Given the description of an element on the screen output the (x, y) to click on. 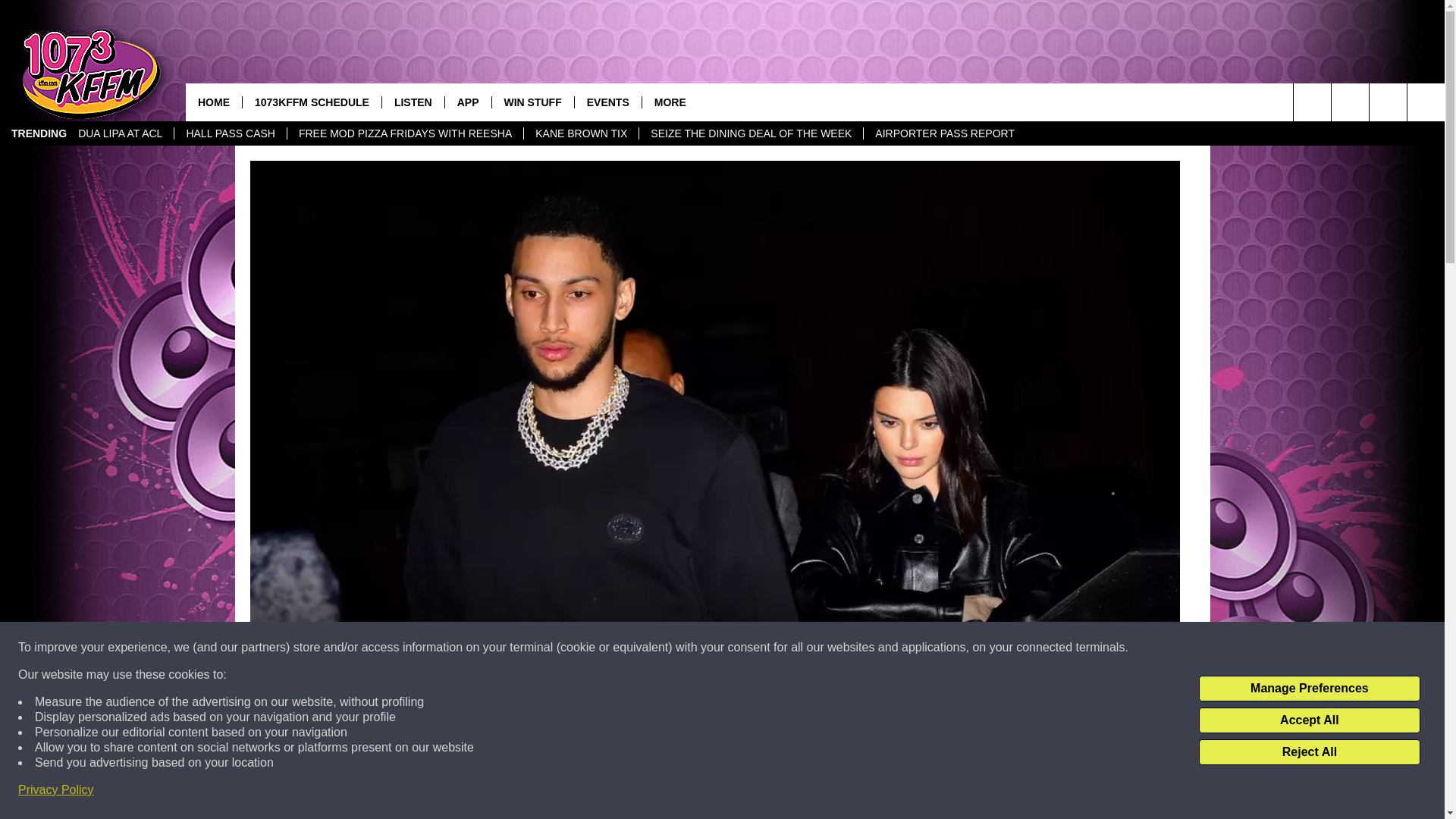
SEIZE THE DINING DEAL OF THE WEEK (751, 133)
Share on Facebook (517, 791)
Privacy Policy (55, 789)
KANE BROWN TIX (580, 133)
1073KFFM SCHEDULE (311, 102)
AIRPORTER PASS REPORT (944, 133)
WIN STUFF (532, 102)
Share on Twitter (912, 791)
FREE MOD PIZZA FRIDAYS WITH REESHA (404, 133)
DUA LIPA AT ACL (119, 133)
HOME (213, 102)
Accept All (1309, 720)
Manage Preferences (1309, 688)
HALL PASS CASH (229, 133)
APP (468, 102)
